Given the description of an element on the screen output the (x, y) to click on. 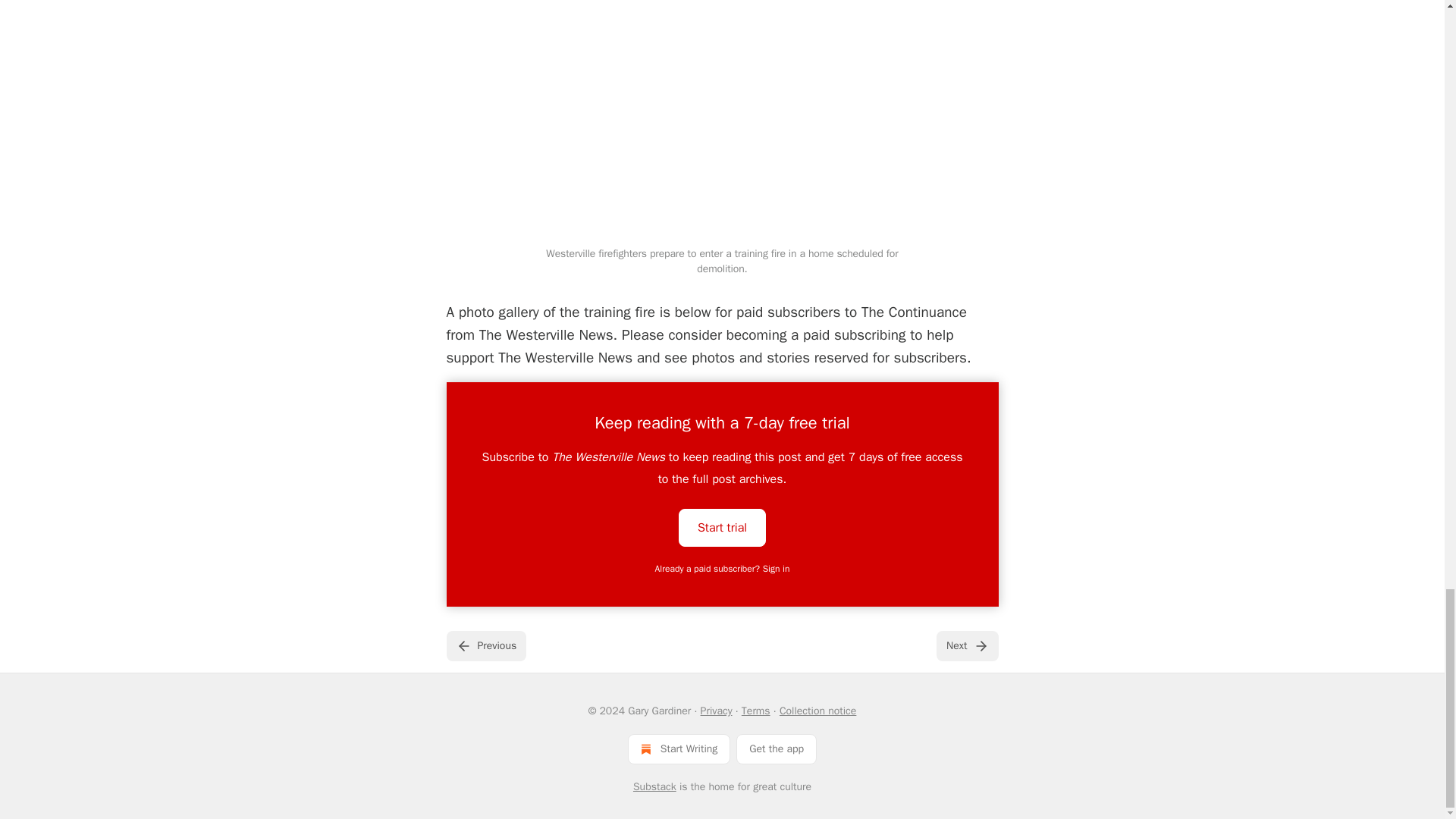
Already a paid subscriber? Sign in (722, 568)
Start trial (721, 526)
Start Writing (678, 748)
Substack (655, 786)
Collection notice (817, 710)
Privacy (716, 710)
Previous (485, 645)
Terms (755, 710)
Next (966, 645)
Start trial (721, 527)
Get the app (776, 748)
